Given the description of an element on the screen output the (x, y) to click on. 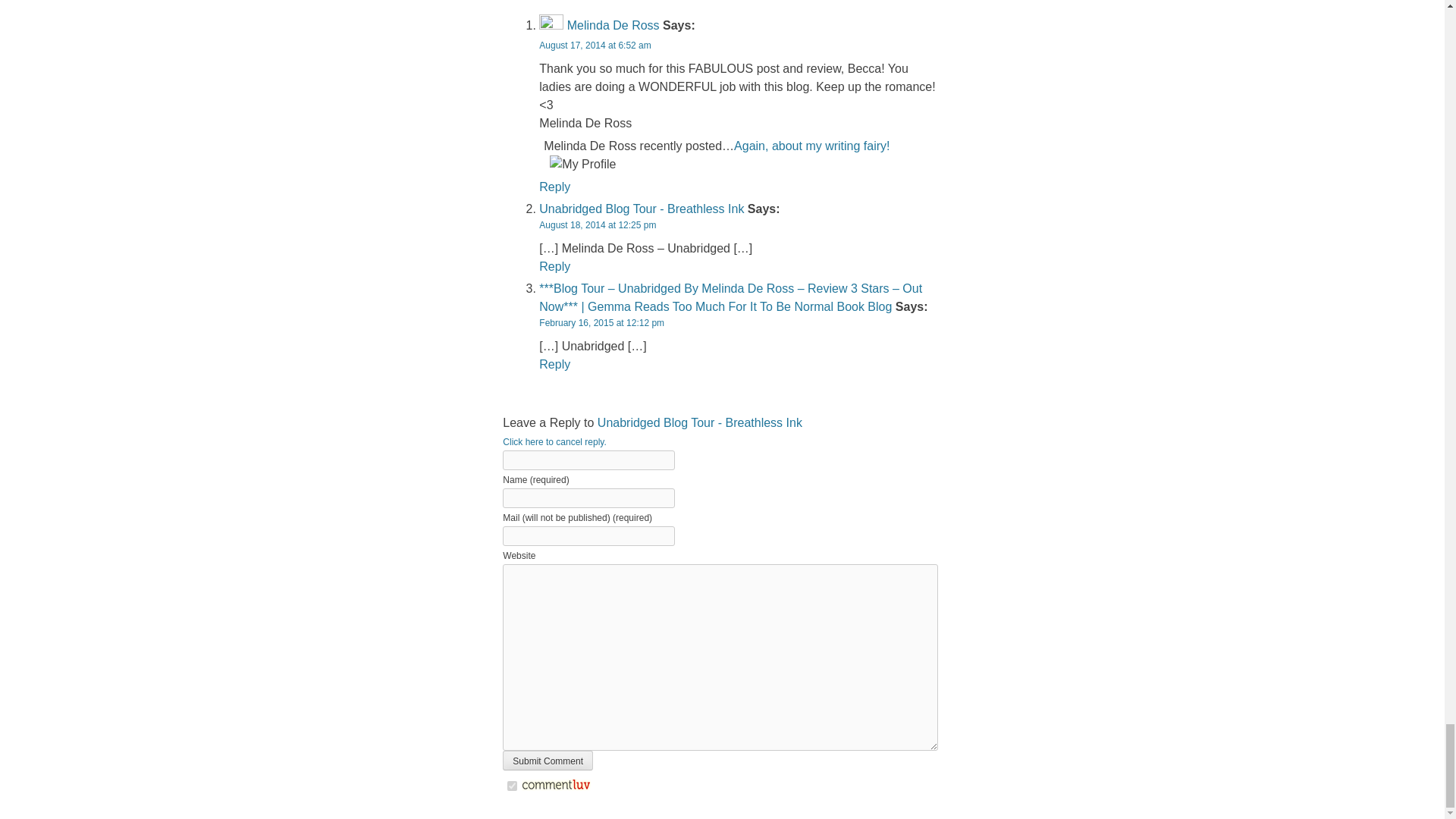
on (511, 786)
Submit Comment (547, 760)
